Given the description of an element on the screen output the (x, y) to click on. 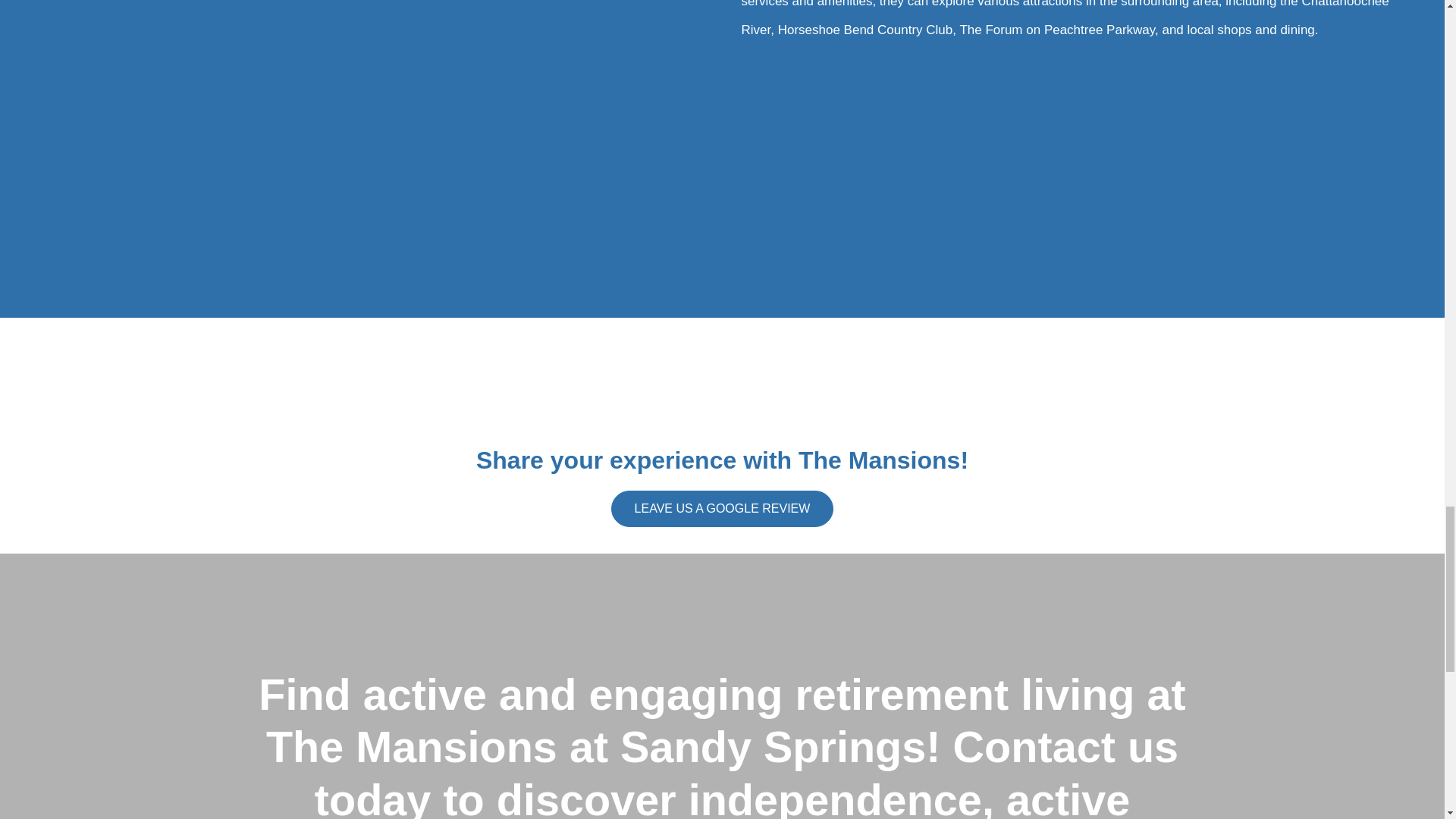
LEAVE US A GOOGLE REVIEW (722, 508)
Mansions-Senior-Living (721, 377)
